Given the description of an element on the screen output the (x, y) to click on. 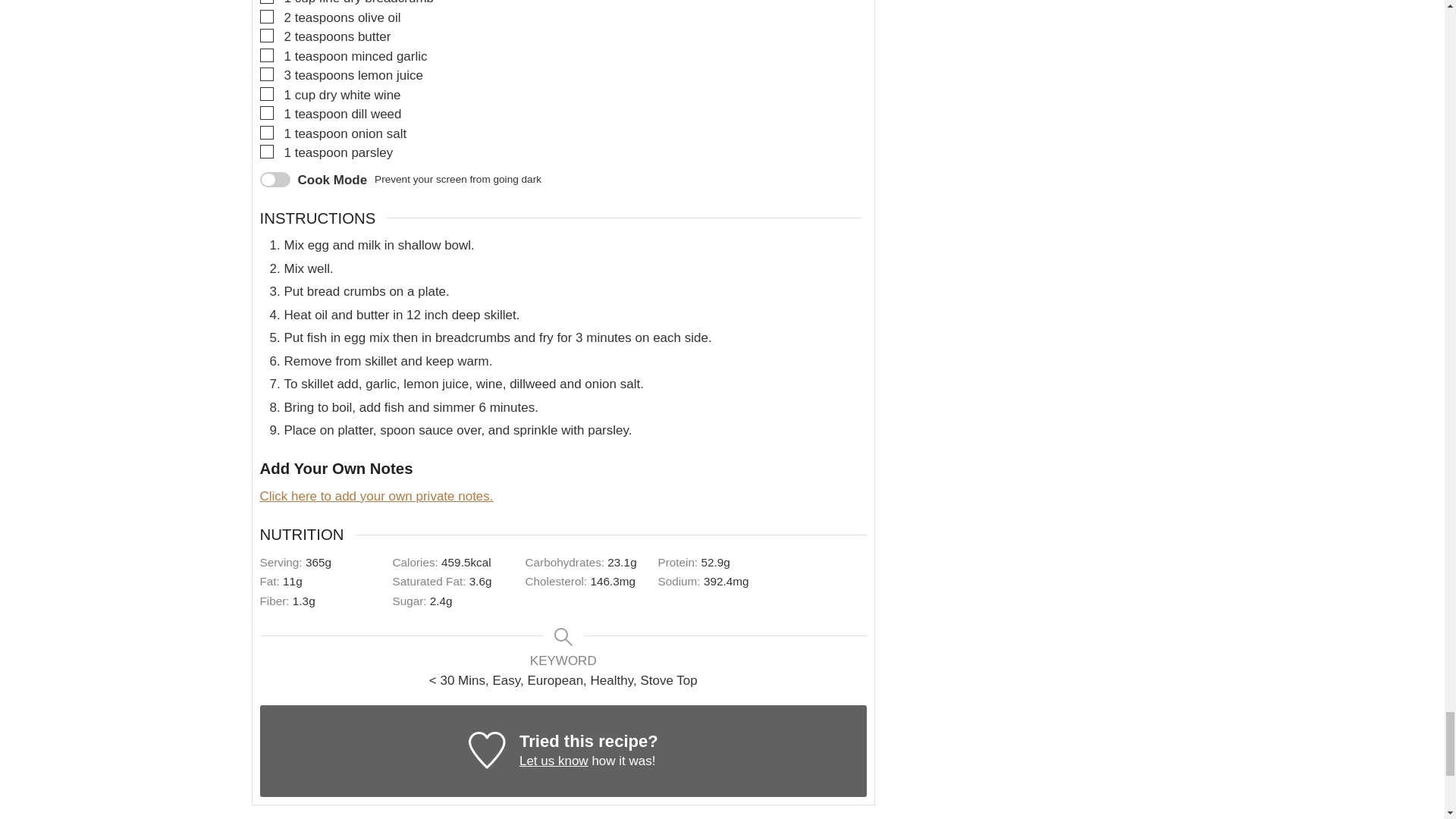
Let us know (553, 760)
Click here to add your own private notes. (376, 495)
